Given the description of an element on the screen output the (x, y) to click on. 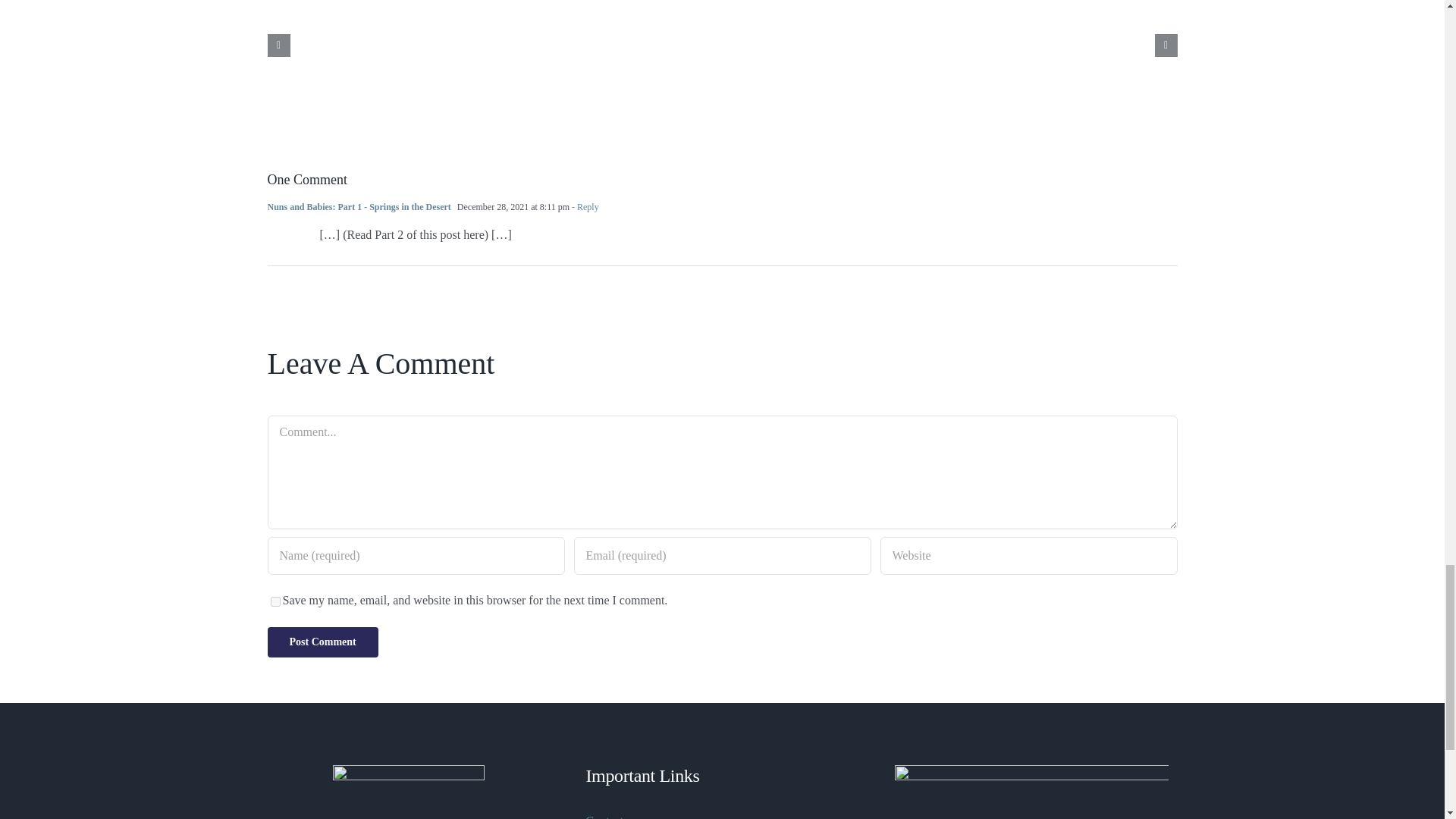
Post Comment (321, 642)
yes (274, 601)
